Given the description of an element on the screen output the (x, y) to click on. 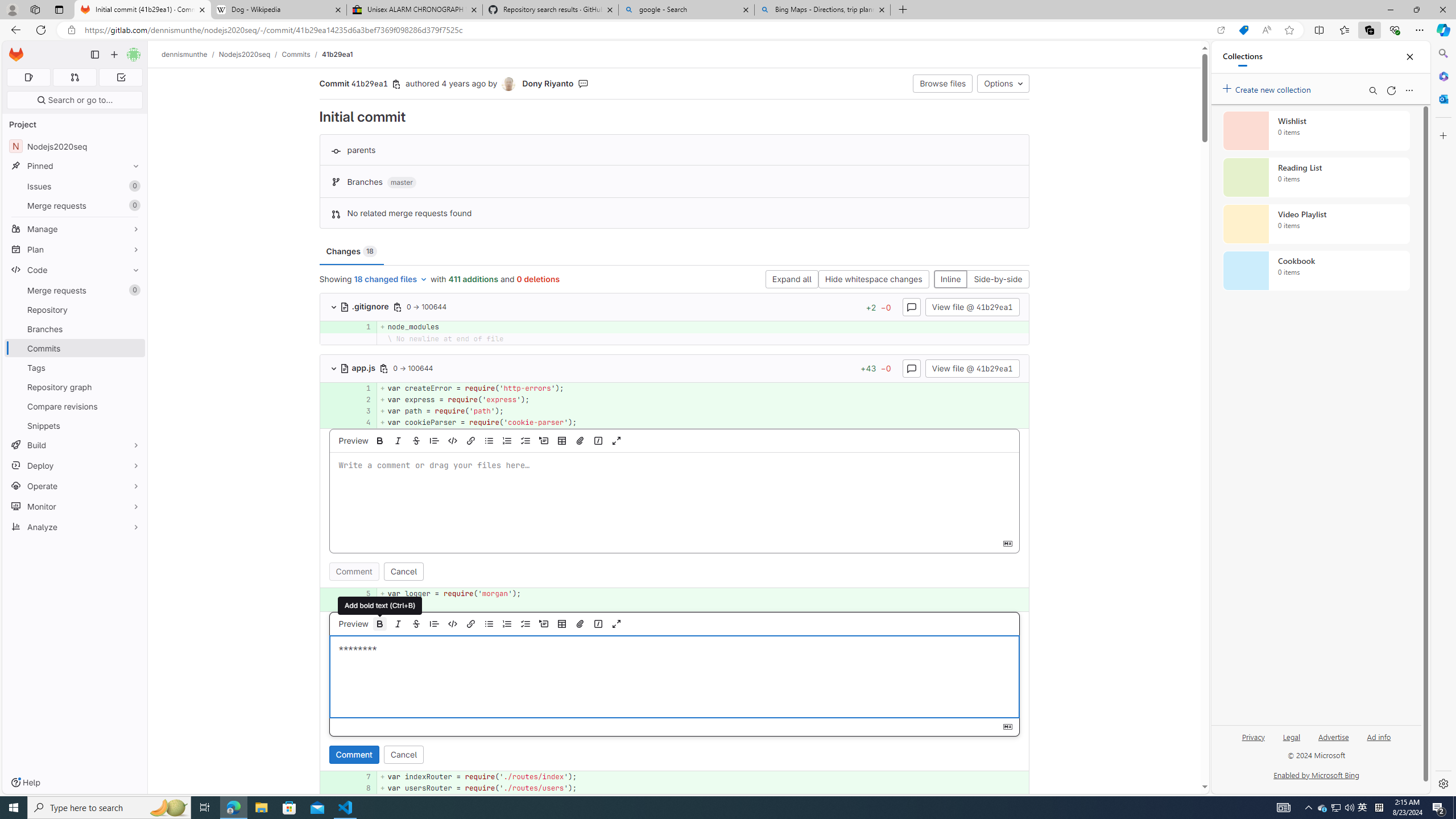
Pin Snippets (132, 425)
Class: s12 (319, 787)
Operate (74, 485)
Snippets (74, 425)
Class: div-dropzone-icon s24 (672, 676)
Browser essentials (1394, 29)
Microsoft 365 (1442, 76)
Nodejs2020seq (244, 53)
Legal (1292, 741)
Pin Repository graph (132, 386)
Settings (1442, 783)
Unpin Merge requests (132, 290)
6 (360, 605)
Pin Commits (132, 348)
dennismunthe/ (189, 53)
